Given the description of an element on the screen output the (x, y) to click on. 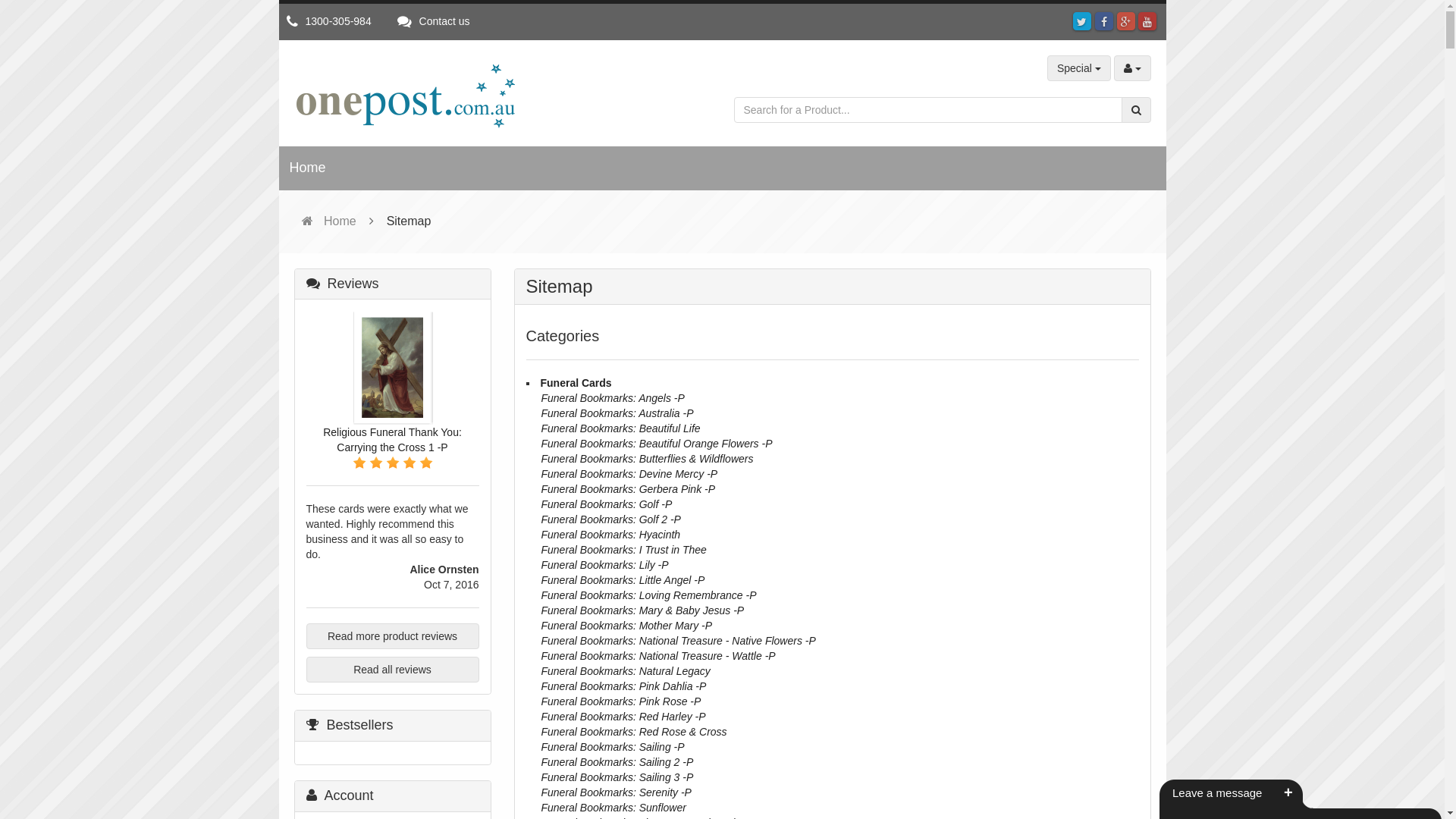
Funeral Bookmarks: I Trust in Thee Element type: text (623, 549)
Funeral Bookmarks: Sunflower Element type: text (613, 807)
Funeral Bookmarks: Loving Remembrance -P Element type: text (648, 595)
Funeral Bookmarks: Sailing -P Element type: text (612, 746)
Funeral Bookmarks: Pink Rose -P Element type: text (621, 701)
Funeral Bookmarks: Little Angel -P Element type: text (623, 580)
Funeral Bookmarks: Serenity -P Element type: text (616, 792)
Funeral Bookmarks: Pink Dahlia -P Element type: text (623, 686)
Home Element type: text (307, 168)
Facebook Element type: hover (1103, 21)
Religious Funeral Thank You: Carrying the Cross 1 -P Element type: text (392, 439)
Funeral Bookmarks: Sailing 2 -P Element type: text (617, 762)
Funeral Bookmarks: Golf 2 -P Element type: text (610, 519)
Funeral Cards Element type: text (575, 382)
Funeral Bookmarks: National Treasure - Native Flowers -P Element type: text (678, 640)
Funeral Bookmarks: Angels -P Element type: text (612, 398)
Funeral Bookmarks: Devine Mercy -P Element type: text (629, 473)
Google Plus Element type: hover (1125, 21)
Funeral Bookmarks: Natural Legacy Element type: text (625, 671)
YouTube Element type: hover (1146, 21)
Funeral Bookmarks: Sailing 3 -P Element type: text (617, 777)
Religious Funeral Thank You: Carrying the Cross 1 -P Element type: hover (391, 367)
Home Element type: text (328, 220)
Contact us Element type: text (433, 21)
Funeral Bookmarks: Gerbera Pink -P Element type: text (628, 489)
Funeral Bookmarks: Australia -P Element type: text (617, 413)
Funeral Bookmarks: Red Rose & Cross Element type: text (634, 731)
Funeral Religious Thank You Card Carrying the Cross 1 P Element type: hover (391, 366)
Funeral Bookmarks: Beautiful Orange Flowers -P Element type: text (656, 443)
Read more product reviews Element type: text (392, 636)
Funeral Bookmarks: Mother Mary -P Element type: text (626, 625)
Funeral Bookmarks: Red Harley -P Element type: text (623, 716)
Funeral Bookmarks: Butterflies & Wildflowers Element type: text (647, 458)
Twitter Element type: hover (1081, 21)
Funeral Bookmarks: Hyacinth Element type: text (610, 534)
Special Element type: text (1078, 68)
Funeral Bookmarks: National Treasure - Wattle -P Element type: text (658, 655)
Read all reviews Element type: text (392, 669)
Funeral Bookmarks: Lily -P Element type: text (604, 564)
Funeral Bookmarks: Beautiful Life Element type: text (620, 428)
Funeral Bookmarks: Mary & Baby Jesus -P Element type: text (642, 610)
Funeral Bookmarks: Golf -P Element type: text (606, 504)
